Given the description of an element on the screen output the (x, y) to click on. 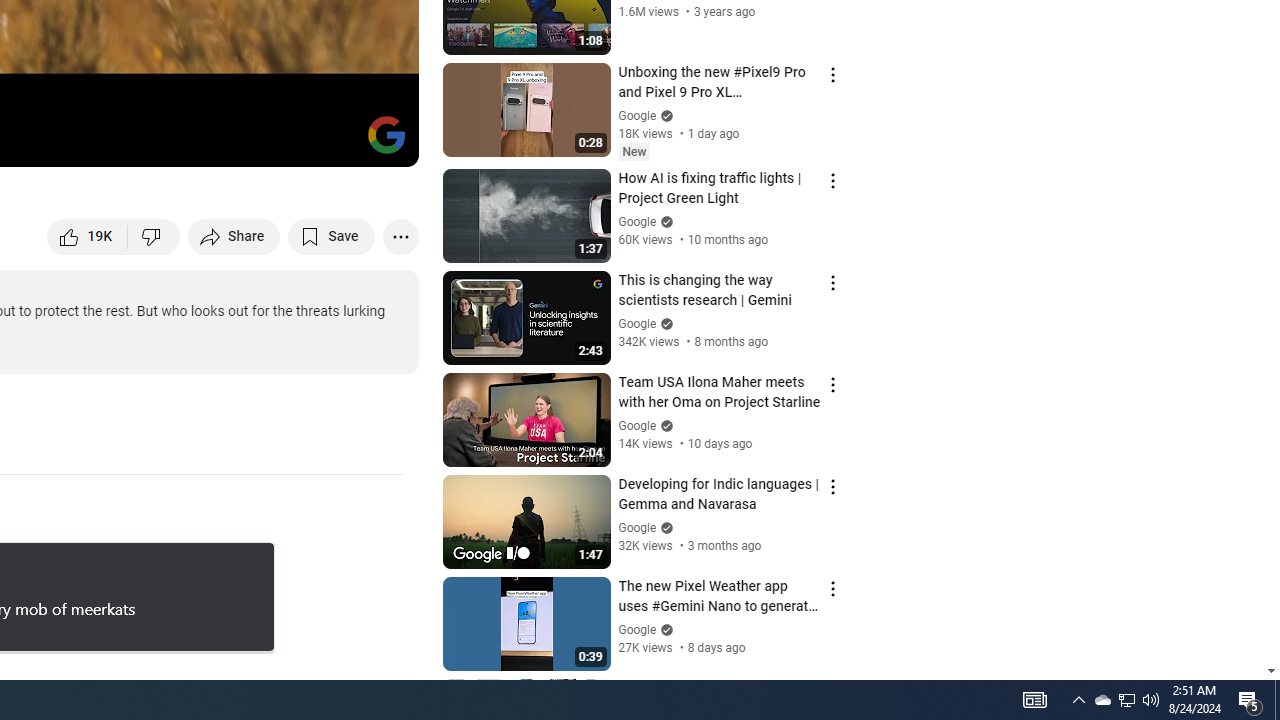
Subtitles/closed captions unavailable (190, 142)
Channel watermark (386, 134)
Theater mode (t) (333, 142)
More actions (399, 236)
Save to playlist (331, 236)
Channel watermark (386, 134)
